Given the description of an element on the screen output the (x, y) to click on. 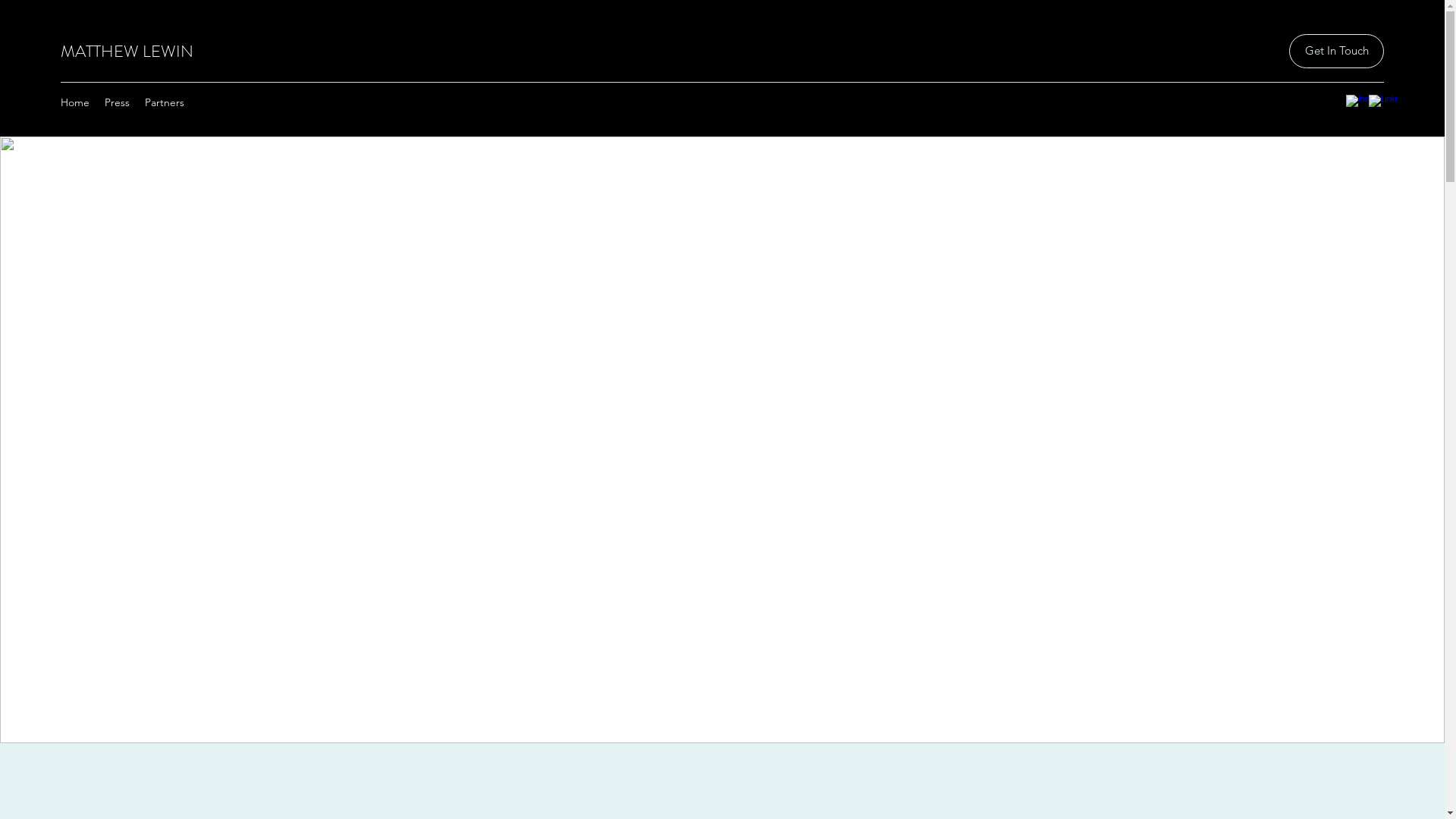
Press Element type: text (117, 102)
MATTHEW LEWIN Element type: text (126, 50)
Home Element type: text (75, 102)
Partners Element type: text (164, 102)
Get In Touch Element type: text (1336, 51)
